Given the description of an element on the screen output the (x, y) to click on. 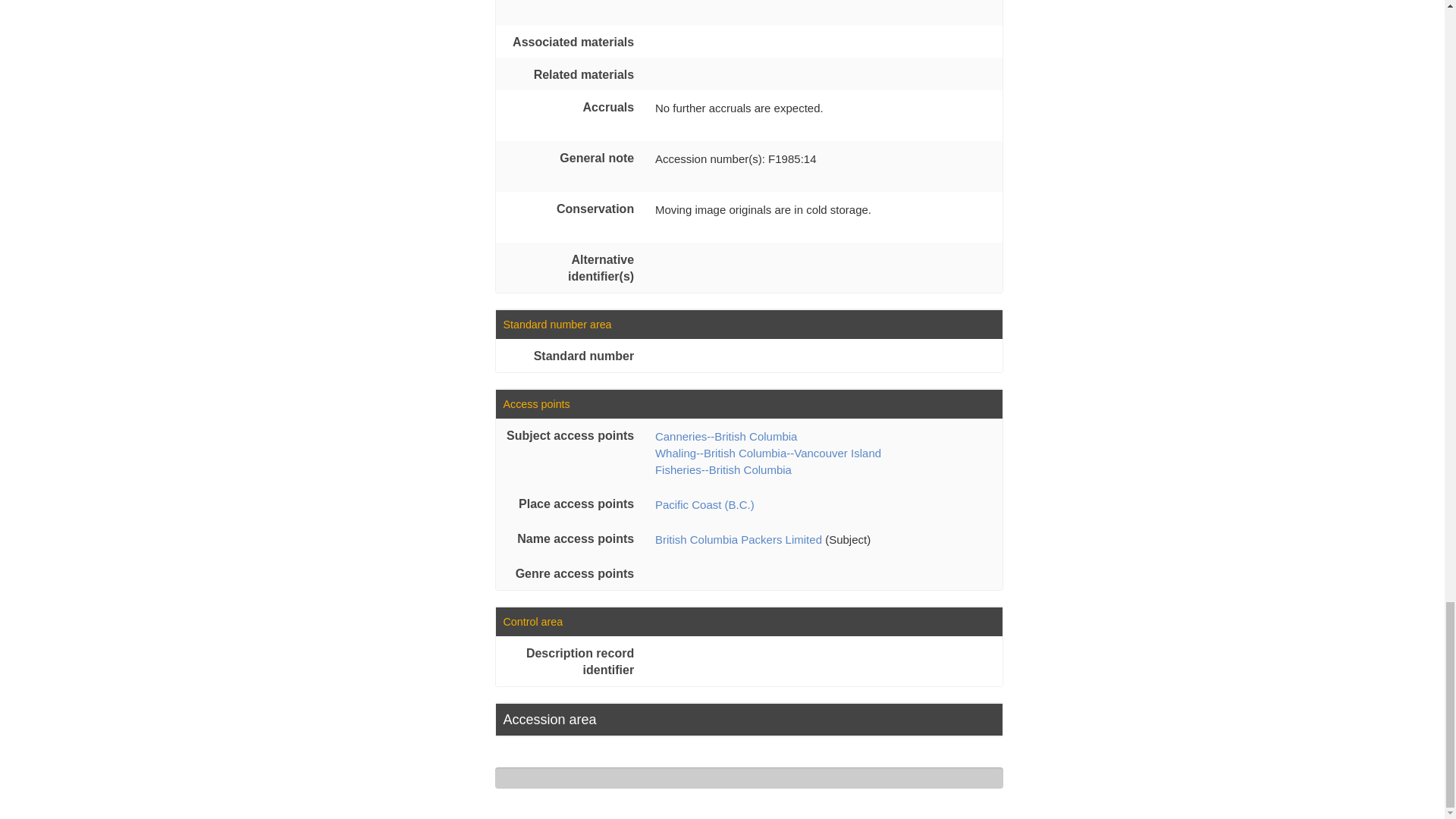
Canneries--British Columbia (726, 436)
Fisheries--British Columbia (723, 469)
Whaling--British Columbia--Vancouver Island (767, 452)
